Given the description of an element on the screen output the (x, y) to click on. 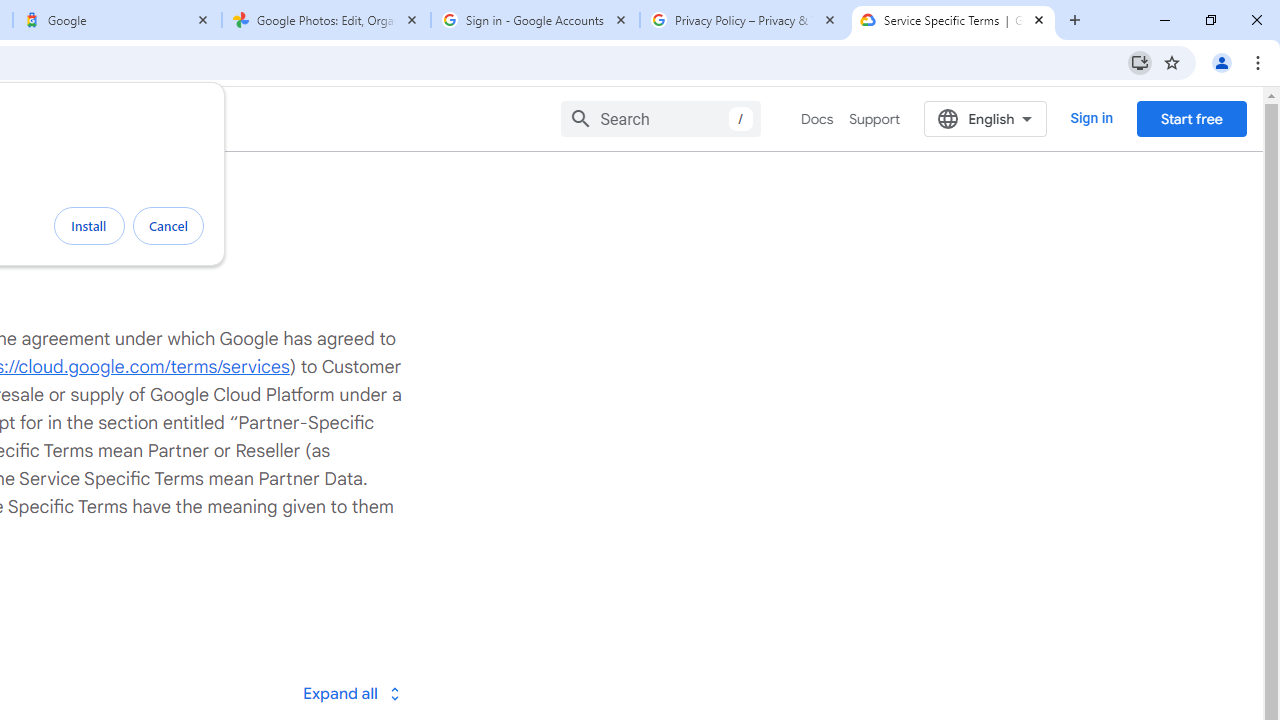
Search (660, 118)
Support (874, 119)
Start free (1191, 118)
Cancel (168, 225)
Docs (817, 119)
Toggle all (351, 692)
English (985, 118)
